Given the description of an element on the screen output the (x, y) to click on. 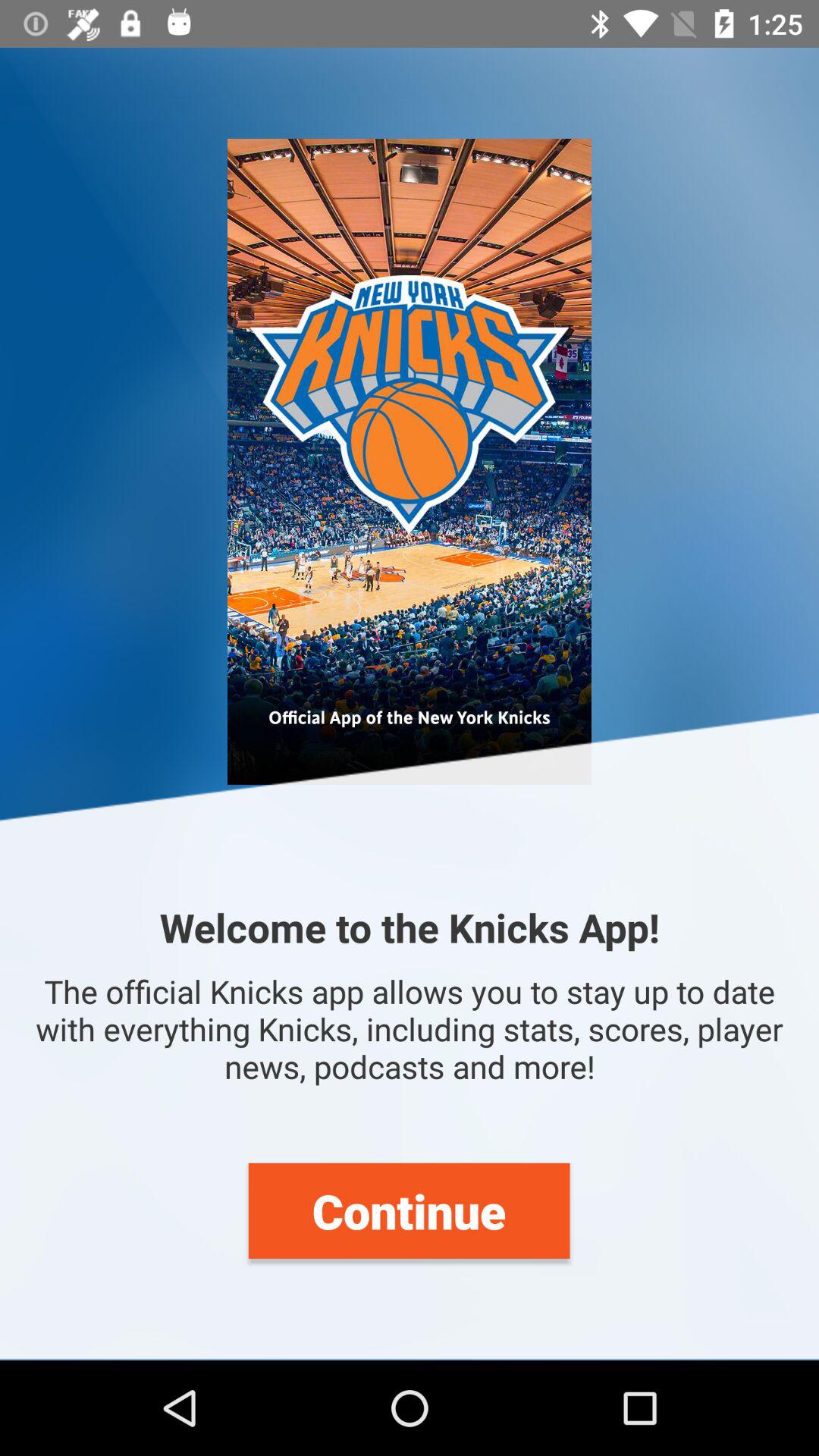
swipe until continue icon (408, 1210)
